Given the description of an element on the screen output the (x, y) to click on. 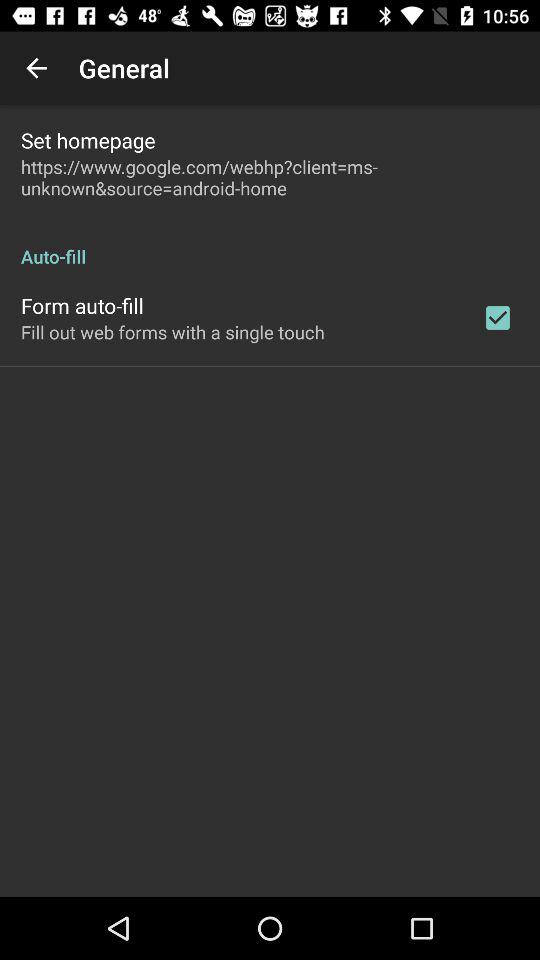
scroll to set homepage (88, 139)
